Given the description of an element on the screen output the (x, y) to click on. 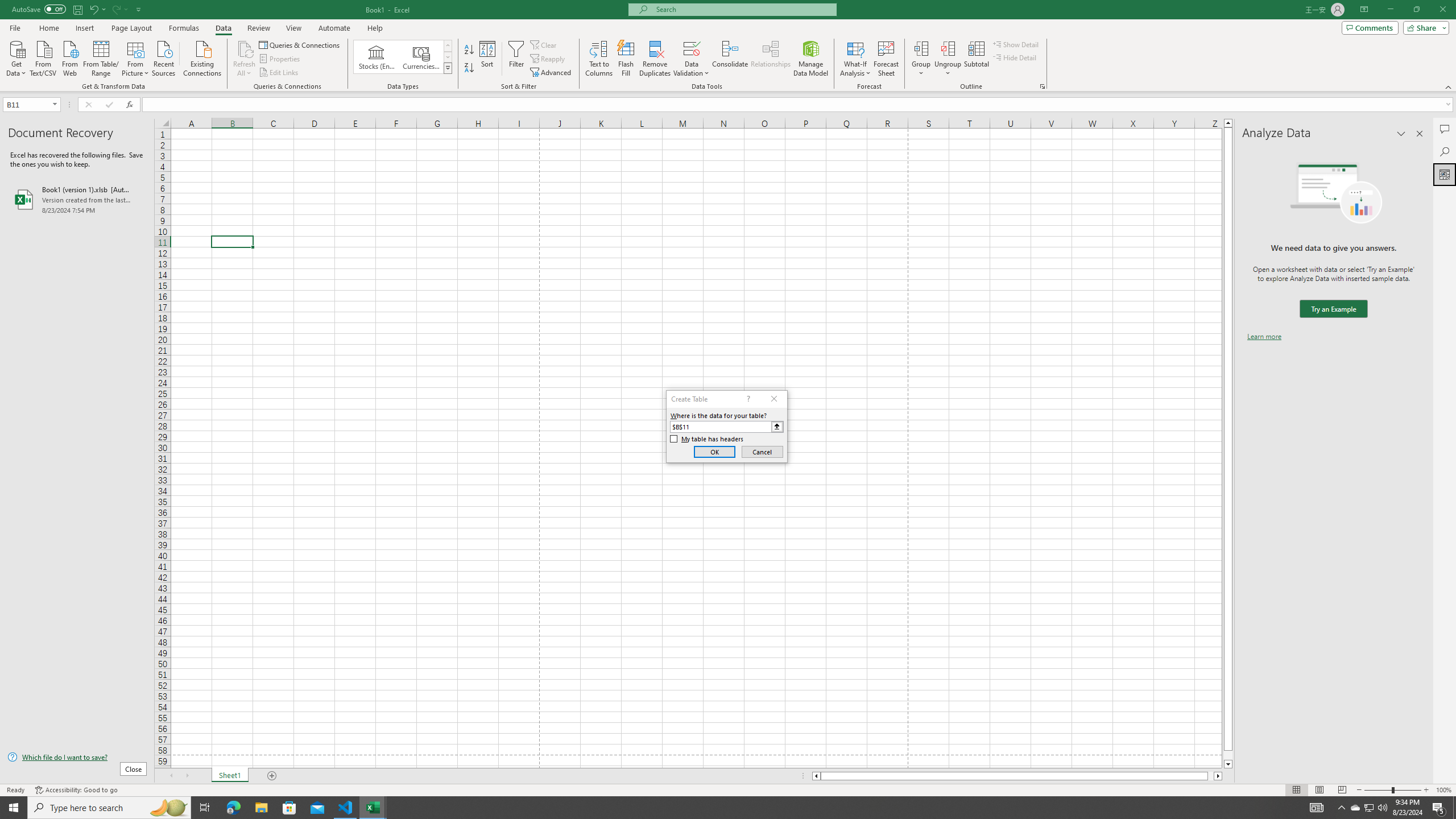
Properties (280, 58)
Ungroup... (947, 48)
Sort Z to A (469, 67)
Manage Data Model (810, 58)
Data Types (448, 67)
Sort A to Z (469, 49)
We need data to give you answers. Try an Example (1333, 308)
Subtotal (976, 58)
Stocks (English) (375, 56)
